Given the description of an element on the screen output the (x, y) to click on. 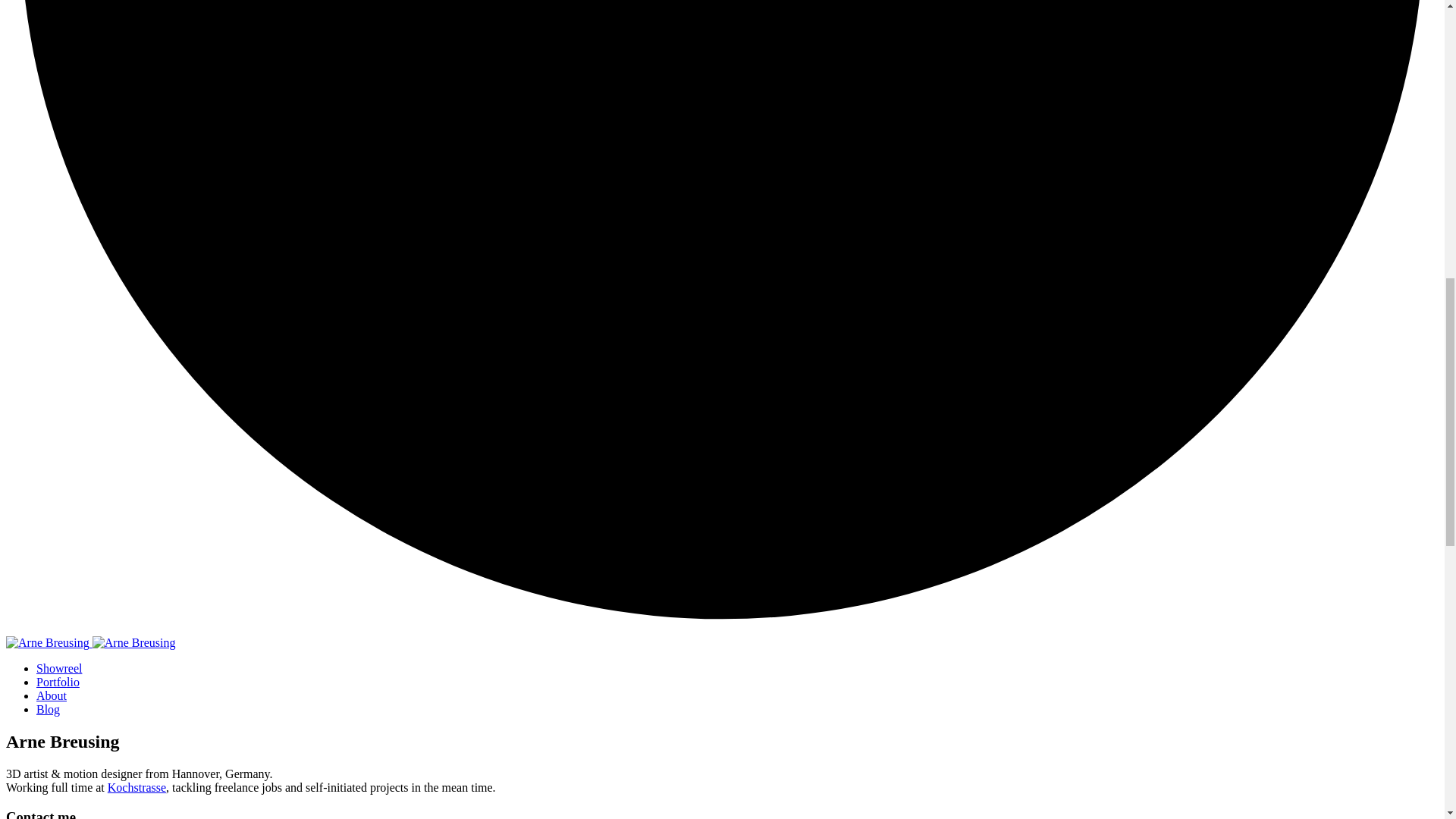
Showreel (58, 667)
Portfolio (58, 681)
Blog (47, 708)
About (51, 695)
Kochstrasse (136, 787)
